Given the description of an element on the screen output the (x, y) to click on. 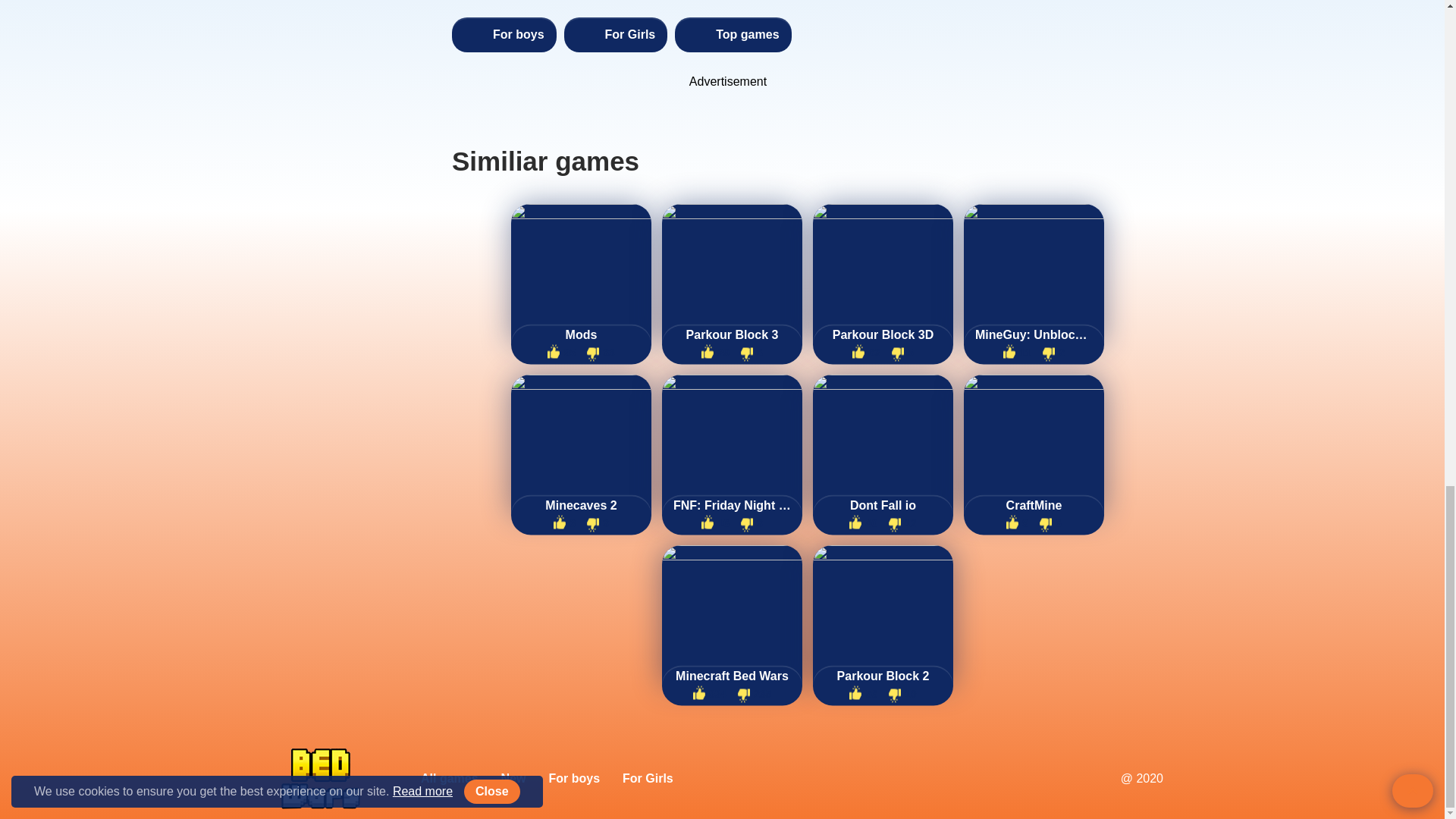
MineGuy: Unblockable (1034, 334)
Dont Fall io (883, 504)
Mods (581, 334)
For boys (503, 34)
Parkour Block 3 (731, 334)
FNF: Friday Night Cursed: Vs Herobrine (731, 504)
Minecaves 2 (581, 504)
Top games (732, 34)
For Girls (616, 34)
CraftMine (1034, 504)
